Given the description of an element on the screen output the (x, y) to click on. 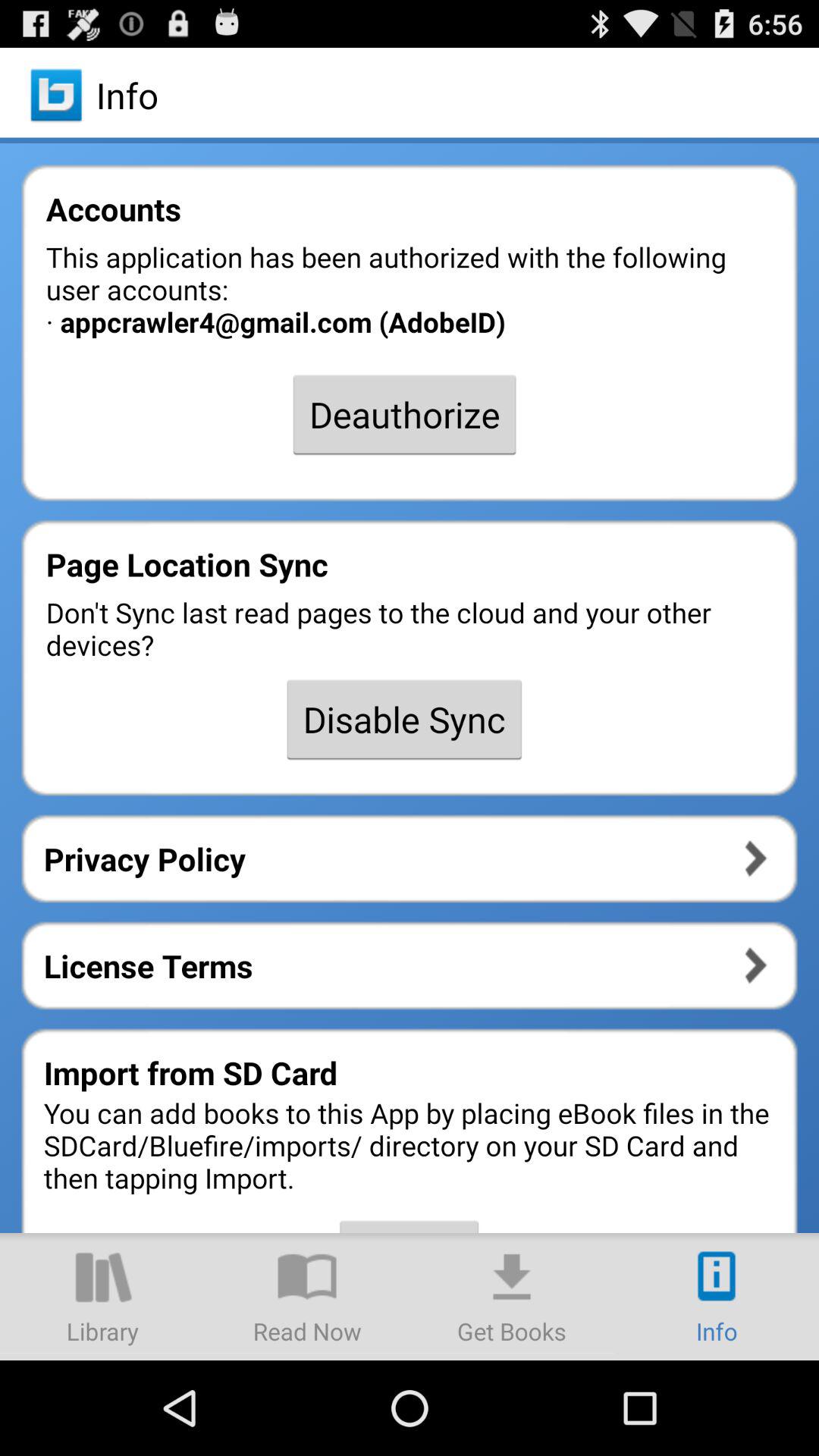
press the item below the this application has icon (404, 414)
